Given the description of an element on the screen output the (x, y) to click on. 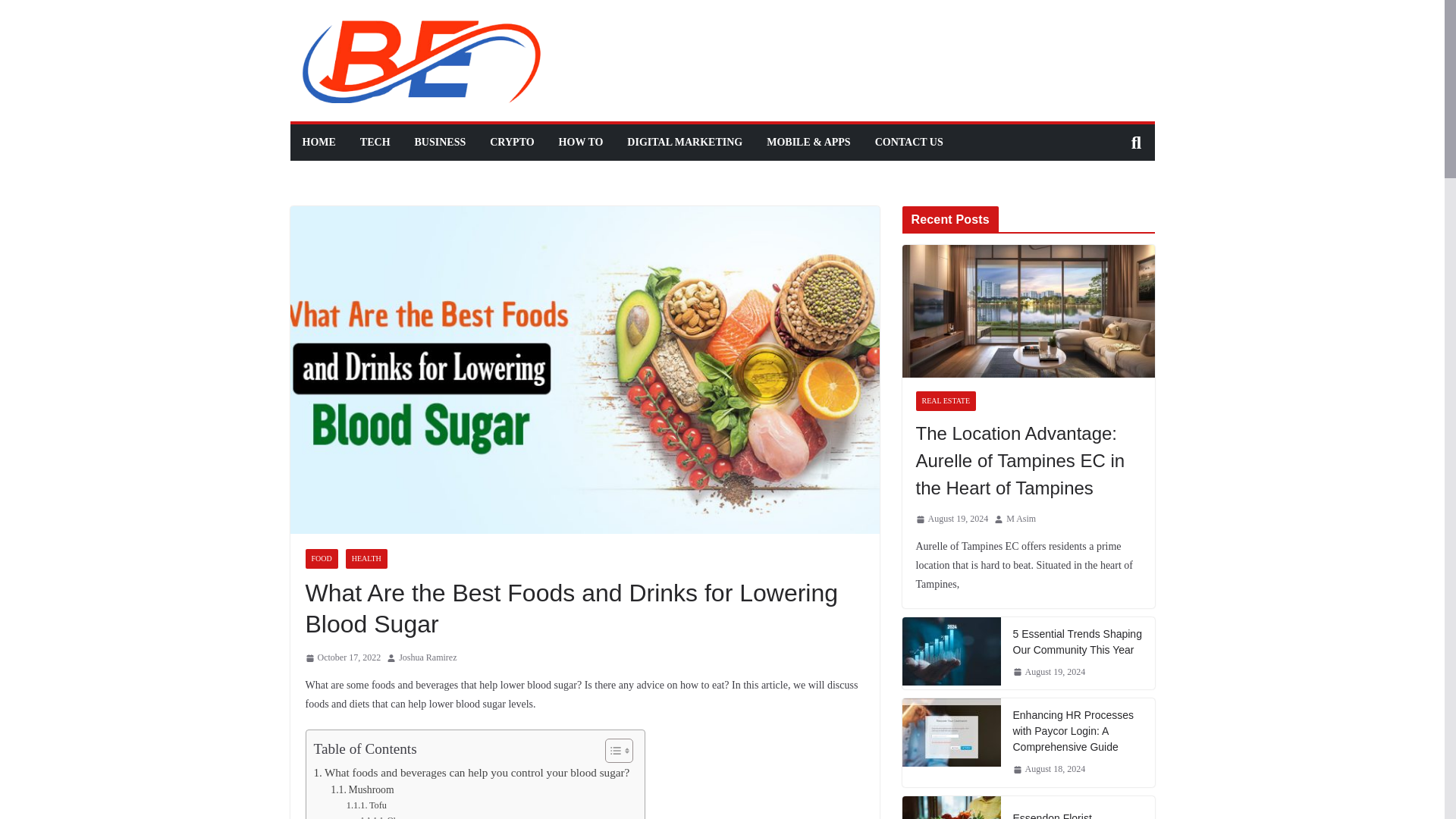
October 17, 2022 (342, 658)
TECH (374, 142)
Mushroom (361, 790)
Joshua Ramirez (427, 658)
CONTACT US (909, 142)
HEALTH (366, 558)
DIGITAL MARKETING (684, 142)
Okra (381, 816)
Tofu (366, 806)
